Given the description of an element on the screen output the (x, y) to click on. 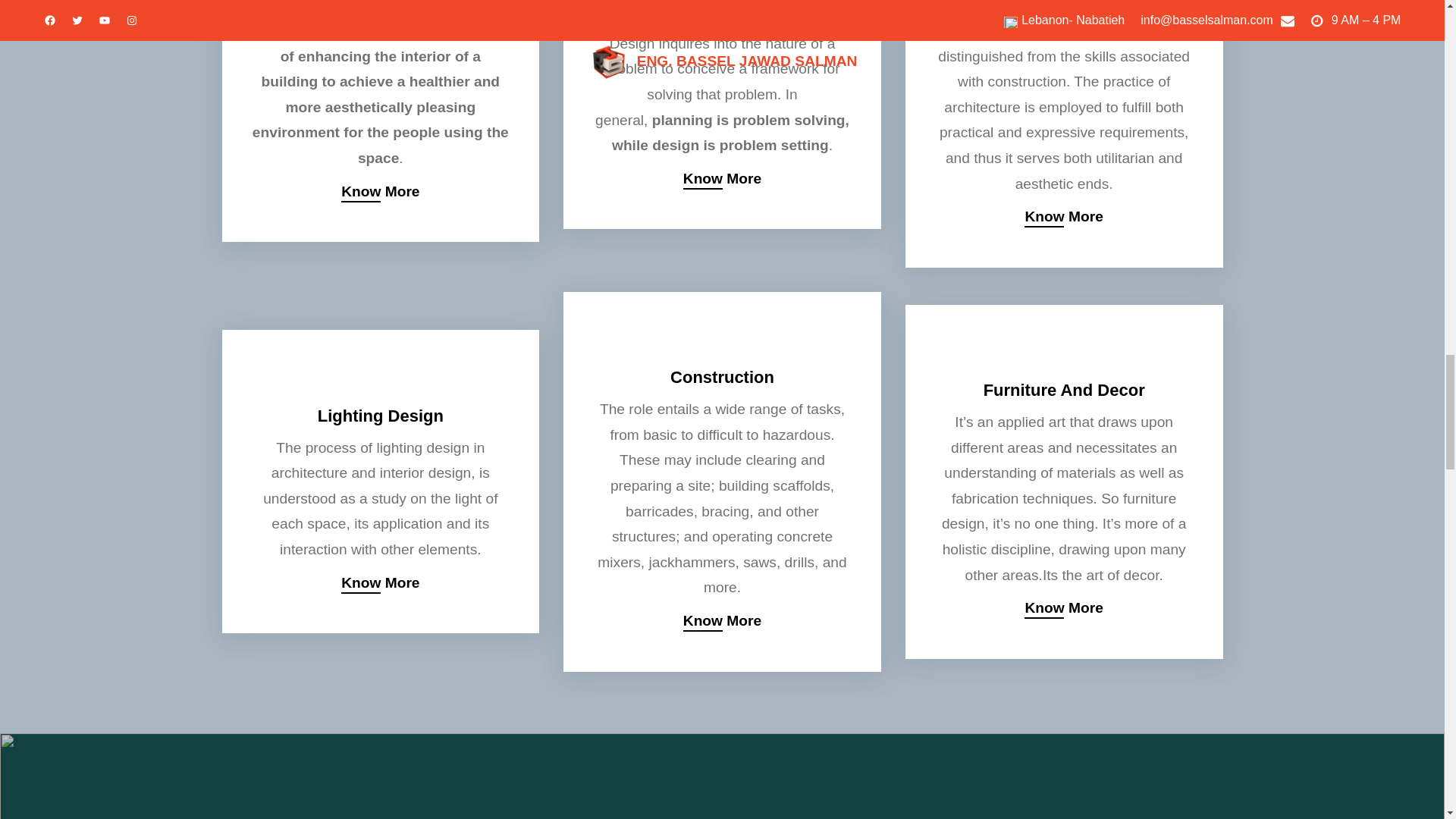
Know More (1063, 217)
Know More (721, 620)
Interior Design (380, 6)
Know More (379, 583)
Lighting Design (380, 417)
Know More (1063, 608)
Know More (379, 191)
Furniture And Decor (1064, 391)
Design And Planning (722, 13)
Construction (721, 378)
